Given the description of an element on the screen output the (x, y) to click on. 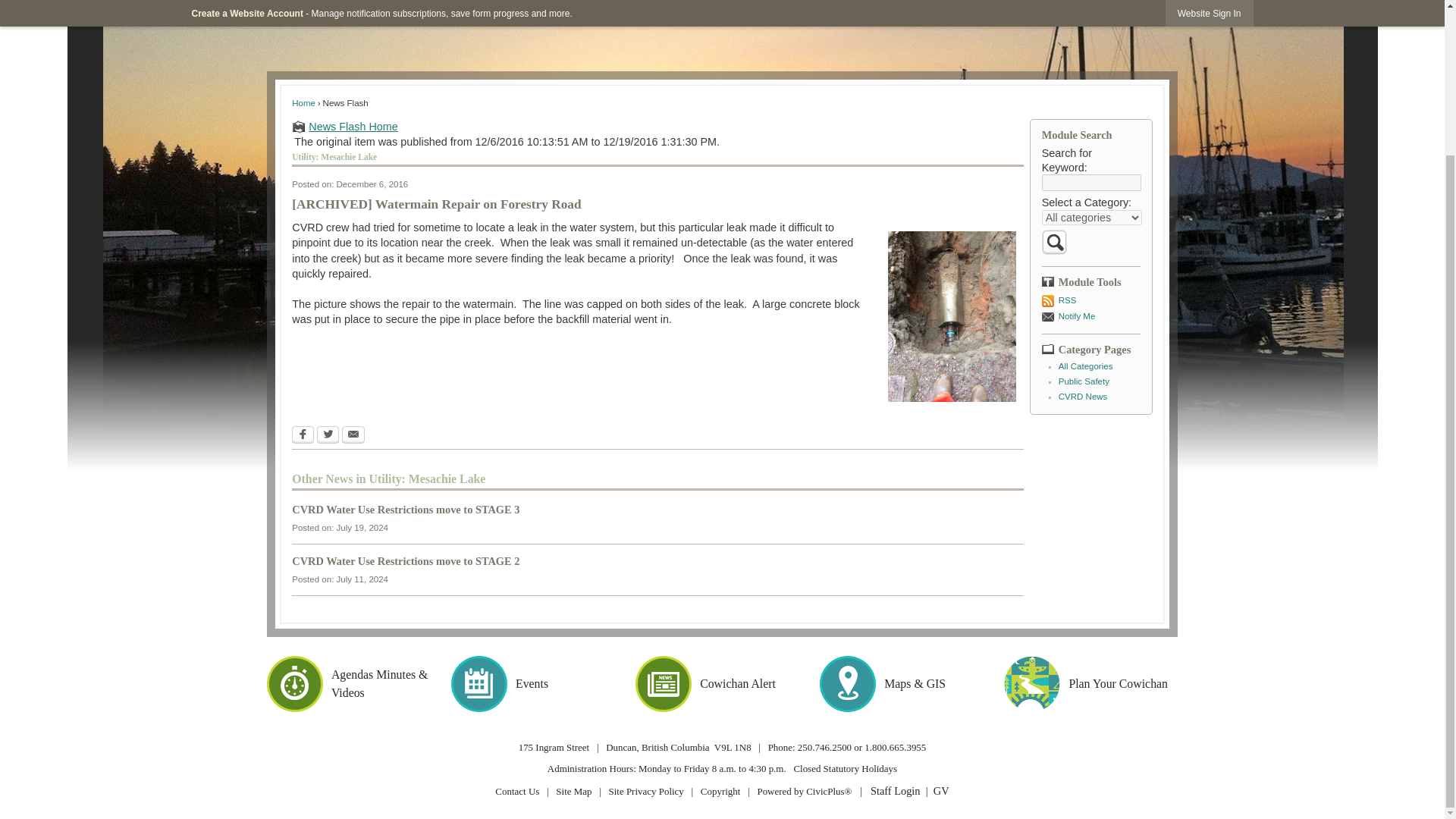
GV (941, 790)
RSS (1091, 300)
Home (303, 102)
Site Privacy Policy (645, 790)
Public Safety (1083, 380)
Share via Email (352, 433)
News Flash Home (657, 126)
Cowichan Alert (721, 683)
Share on Twitter (328, 433)
Copyright (720, 790)
Staff Login (895, 790)
Site Map (573, 790)
Plan Your Cowichan (1090, 683)
All Categories (1085, 366)
CVRD News (1083, 396)
